Given the description of an element on the screen output the (x, y) to click on. 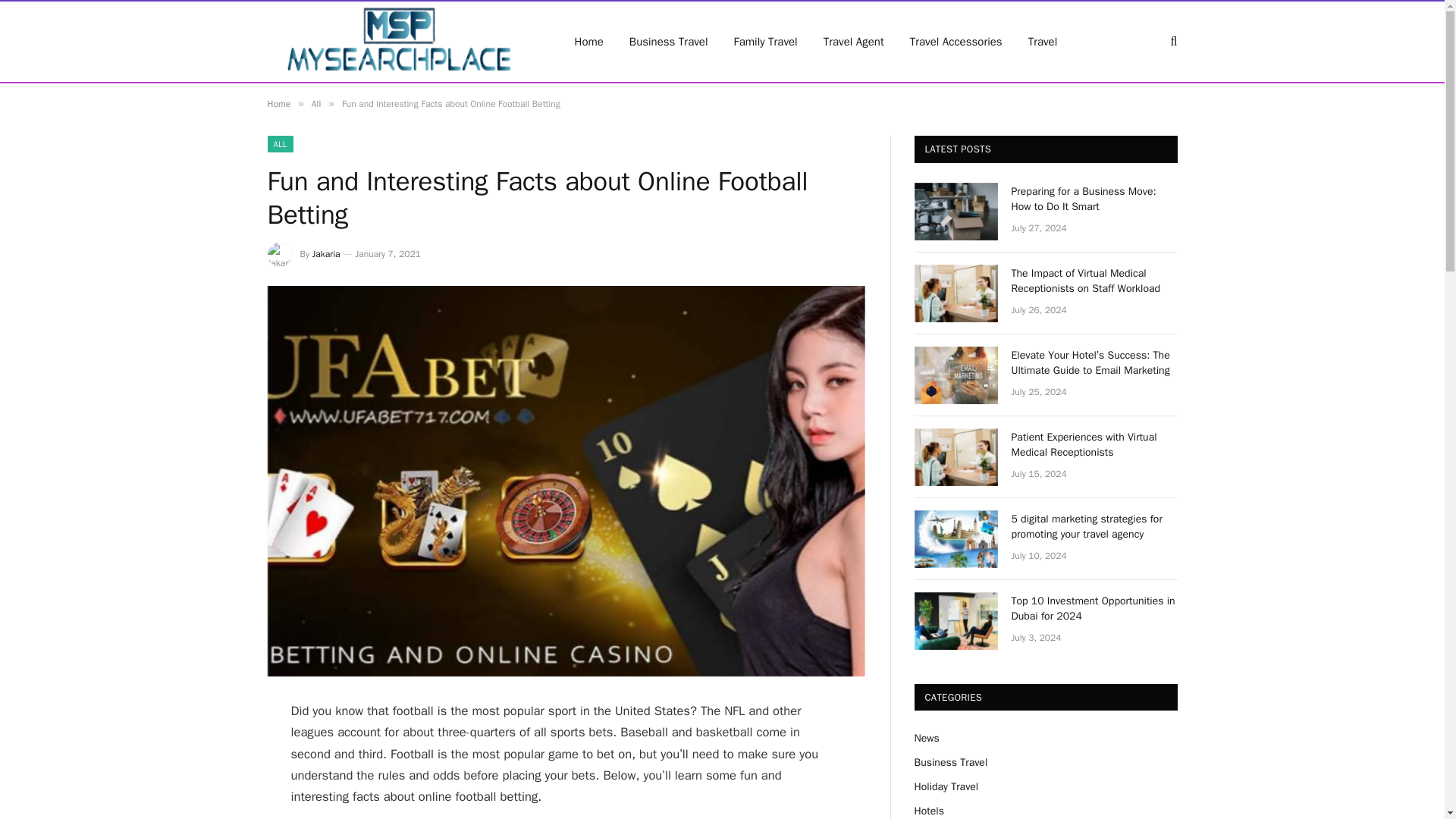
Preparing for a Business Move: How to Do It Smart (955, 211)
Preparing for a Business Move: How to Do It Smart (1094, 199)
Posts by Jakaria (326, 254)
Mysearchplace (400, 41)
ALL (279, 143)
Travel Accessories (955, 41)
Jakaria (326, 254)
Patient Experiences with Virtual Medical Receptionists (1094, 444)
Family Travel (765, 41)
Business Travel (667, 41)
Home (277, 103)
